Given the description of an element on the screen output the (x, y) to click on. 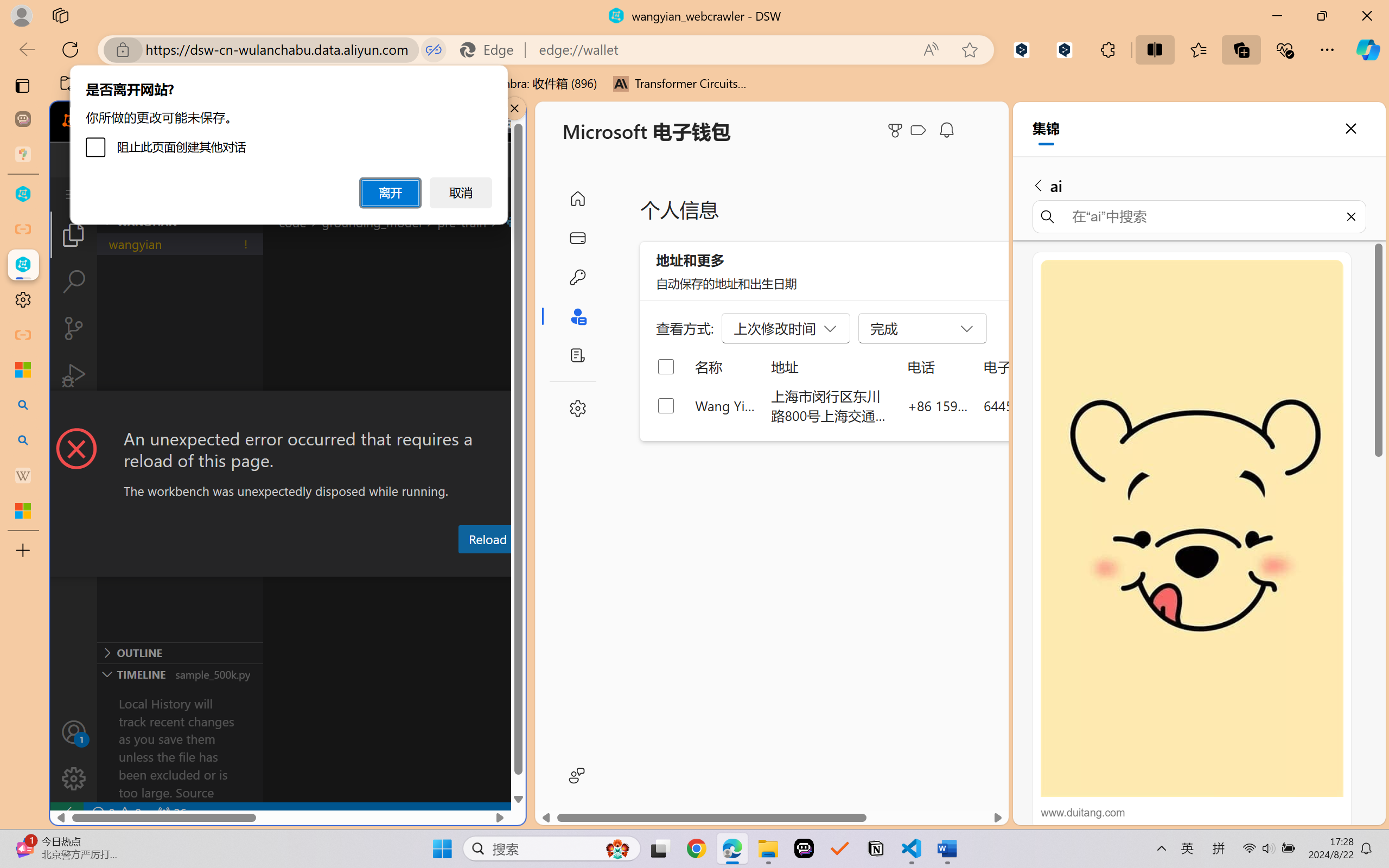
Timeline Section (179, 673)
